Given the description of an element on the screen output the (x, y) to click on. 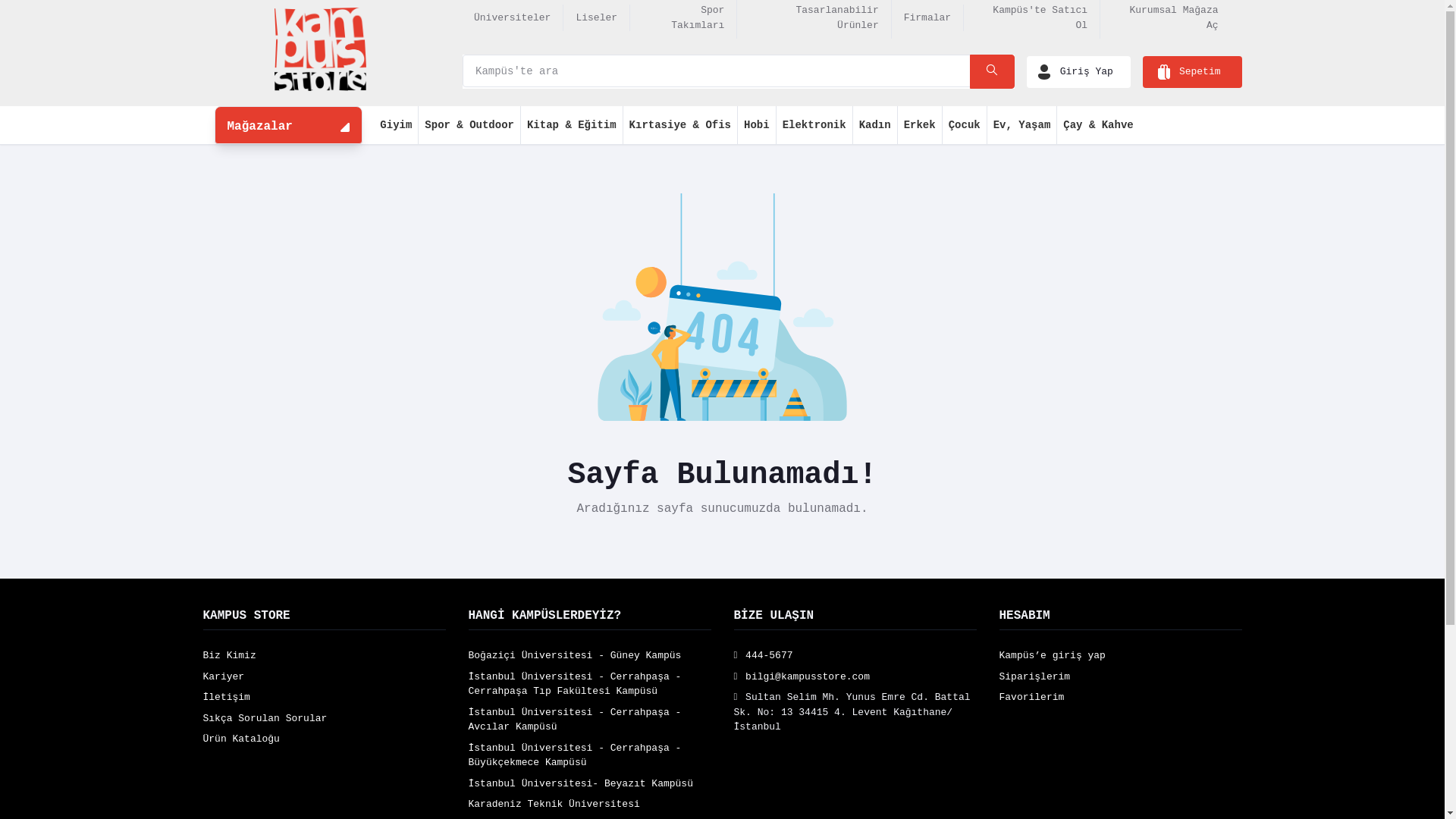
Favorilerim Element type: text (1031, 696)
Spor & Outdoor Element type: text (469, 125)
Erkek Element type: text (919, 125)
Elektronik Element type: text (814, 125)
Biz Kimiz Element type: text (229, 655)
Hobi Element type: text (756, 125)
Giyim Element type: text (395, 125)
Sepetim Element type: text (1191, 71)
Firmalar Element type: text (926, 17)
Kariyer Element type: text (223, 676)
Liseler Element type: text (596, 17)
